Given the description of an element on the screen output the (x, y) to click on. 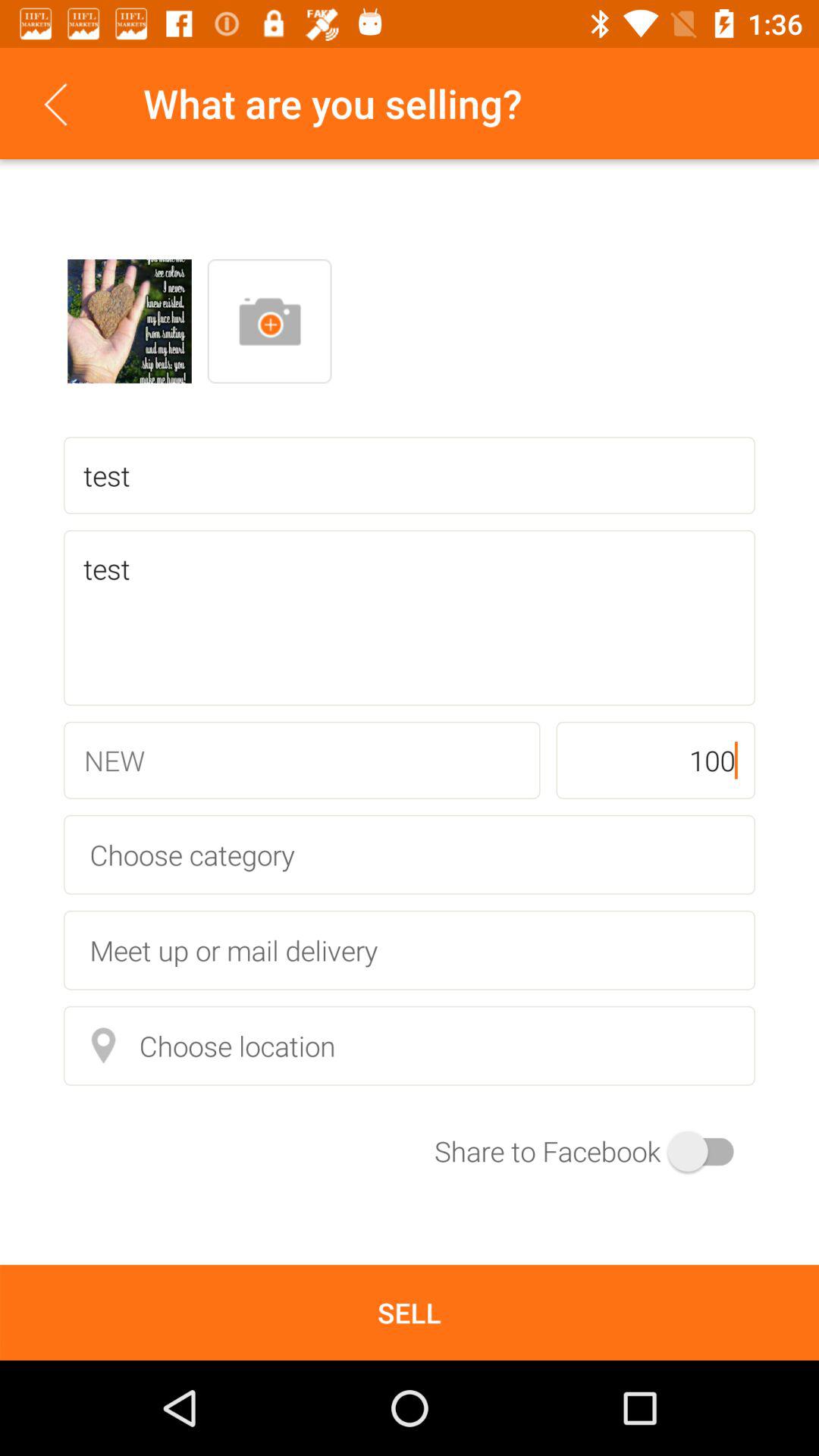
view picture (129, 320)
